Given the description of an element on the screen output the (x, y) to click on. 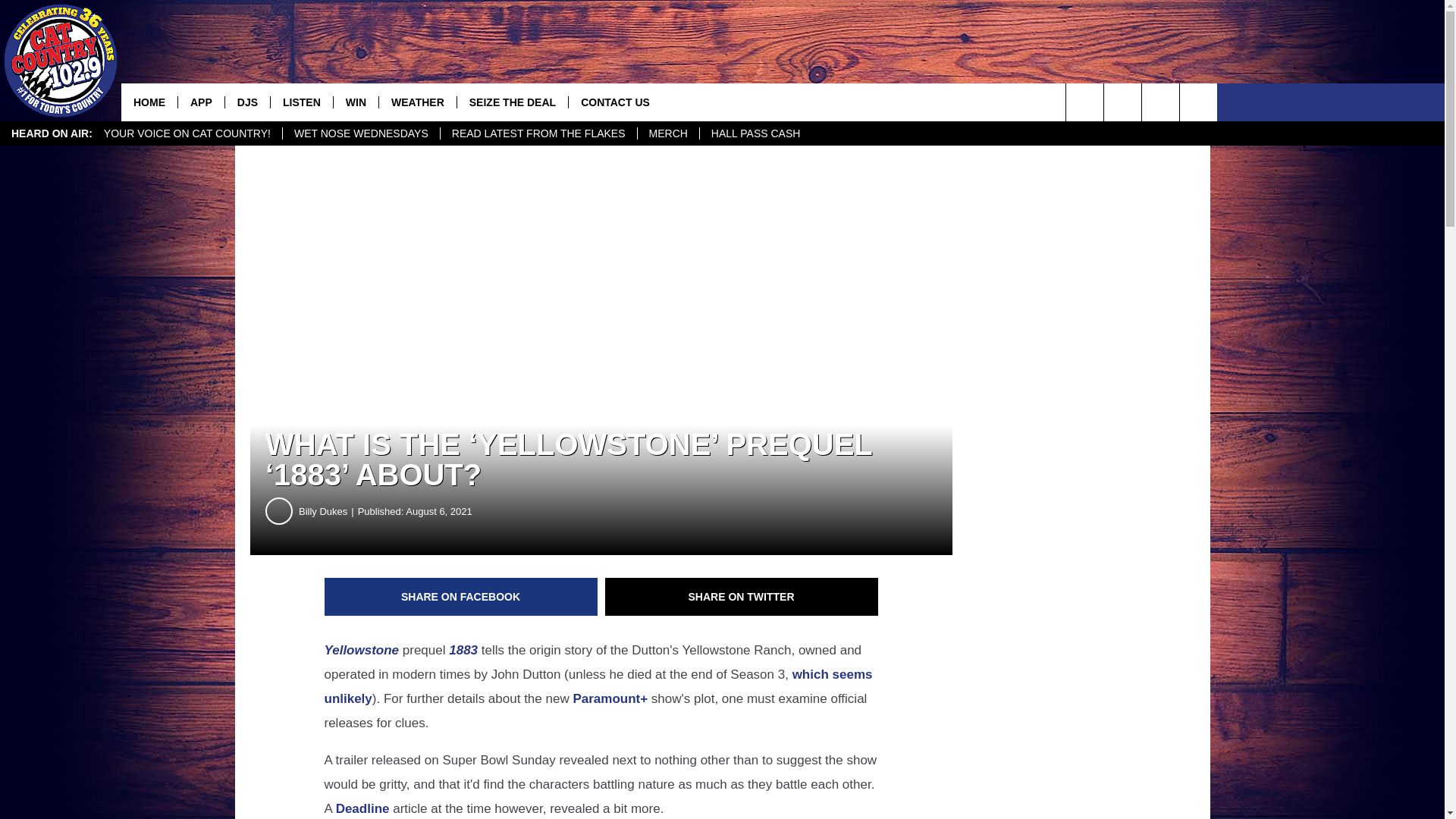
CONTACT US (614, 102)
WEATHER (417, 102)
Share on Facebook (460, 596)
SEIZE THE DEAL (512, 102)
DJS (246, 102)
Share on Twitter (741, 596)
HALL PASS CASH (755, 133)
READ LATEST FROM THE FLAKES (538, 133)
WIN (355, 102)
WET NOSE WEDNESDAYS (360, 133)
HOME (148, 102)
LISTEN (301, 102)
APP (200, 102)
YOUR VOICE ON CAT COUNTRY! (187, 133)
MERCH (667, 133)
